Given the description of an element on the screen output the (x, y) to click on. 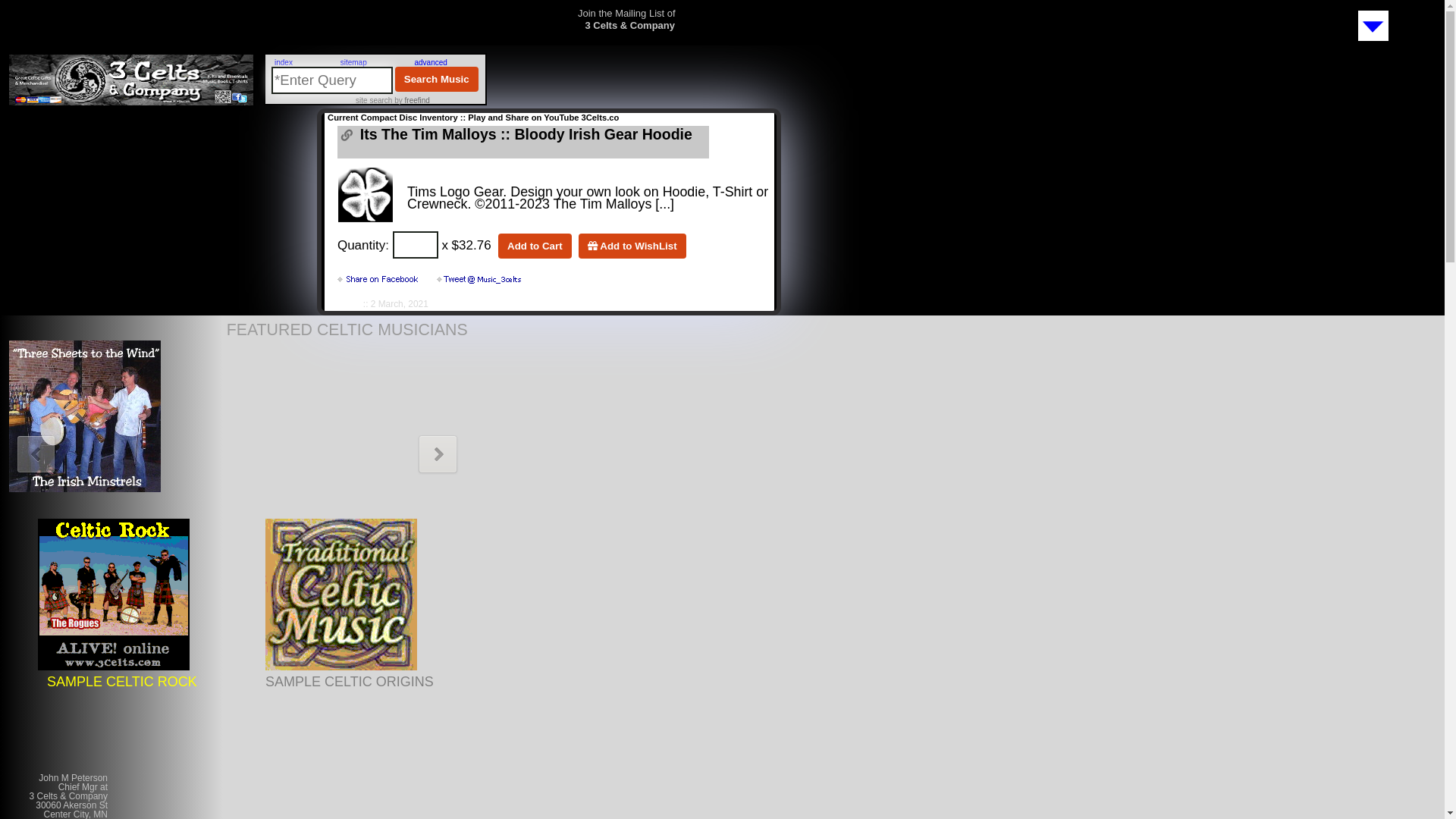
sitemap Element type: text (353, 62)
Sample Traditional Celtic Music. Element type: hover (341, 665)
index Element type: text (283, 62)
Its The Tim Malloys :: Bloody Irish Gear Hoodie Element type: text (523, 133)
  Element type: text (479, 279)
 Add to WishList Element type: text (632, 245)
Subscribe to Mailing List Element type: hover (1375, 40)
site search Element type: text (373, 100)
Search Music Element type: text (436, 78)
Sample Original Celtic Rock. Element type: hover (113, 665)
advanced Element type: text (430, 62)
by freefind Element type: text (410, 100)
